Given the description of an element on the screen output the (x, y) to click on. 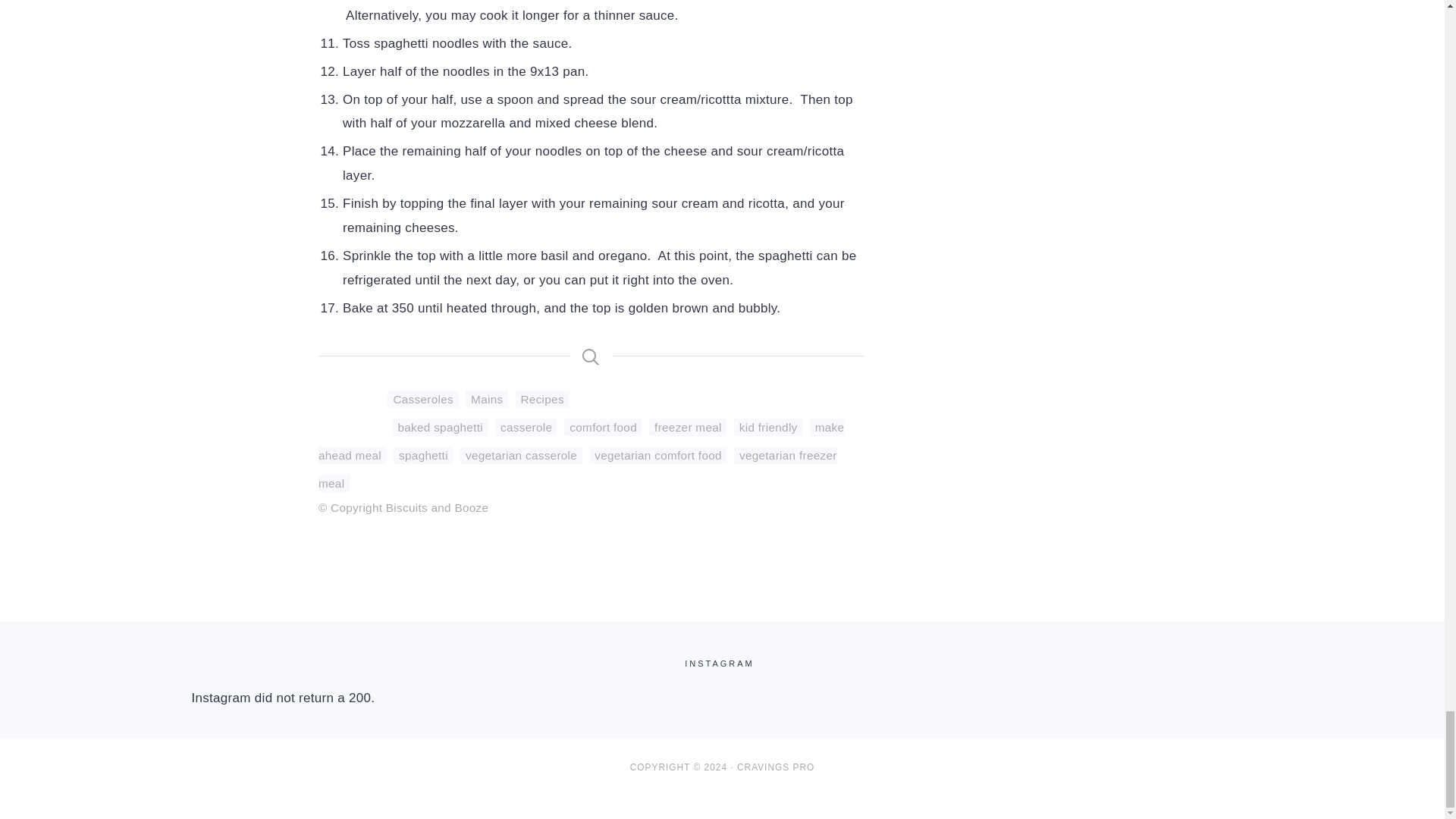
spaghetti (422, 455)
freezer meal (687, 426)
Mains (486, 398)
Casseroles (422, 398)
comfort food (603, 426)
vegetarian casserole (521, 455)
baked spaghetti (439, 426)
vegetarian freezer meal (577, 469)
Recipes (542, 398)
make ahead meal (581, 441)
